Given the description of an element on the screen output the (x, y) to click on. 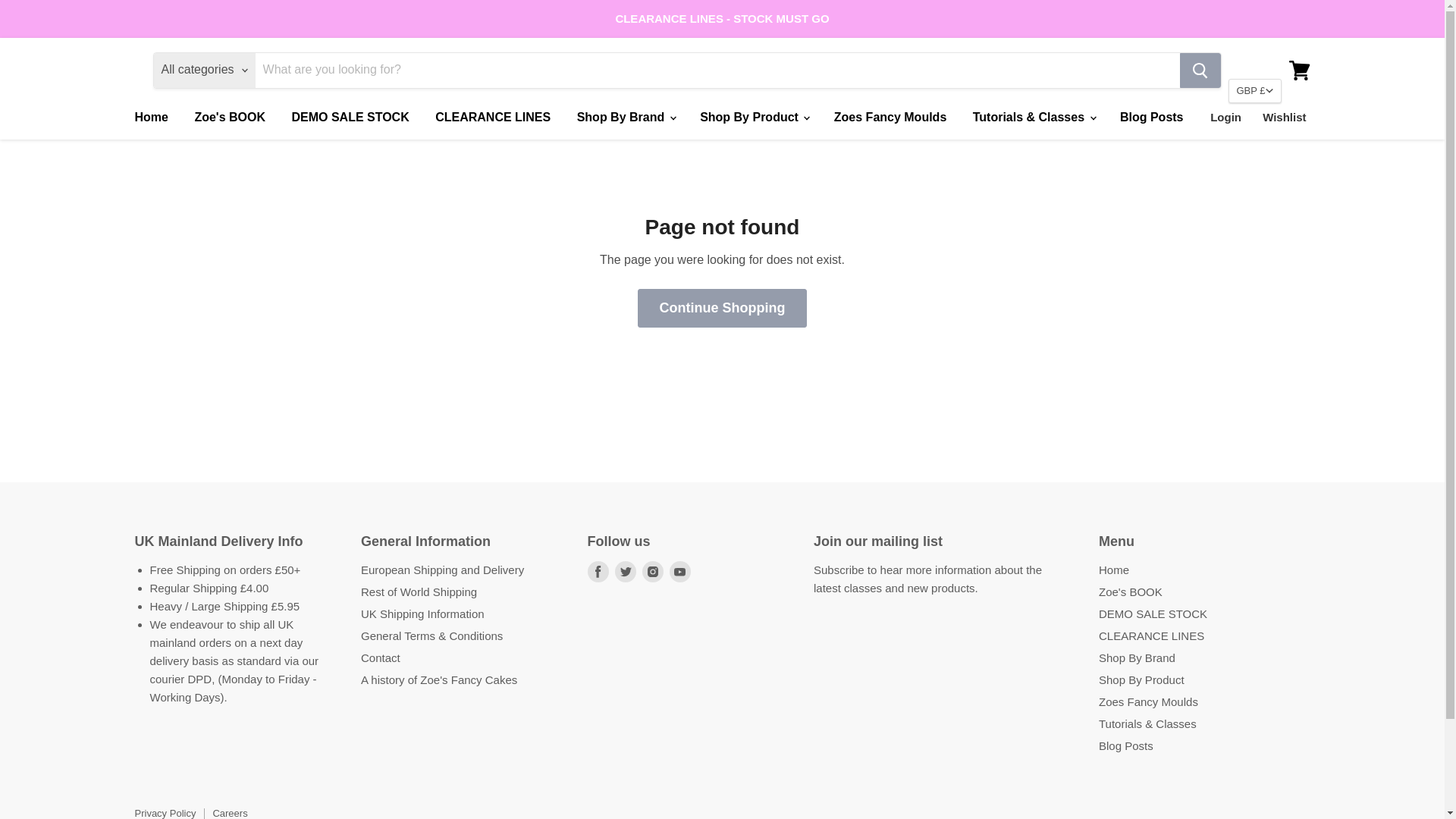
Instagram (652, 571)
Youtube (679, 571)
Twitter (624, 571)
Facebook (597, 571)
